Given the description of an element on the screen output the (x, y) to click on. 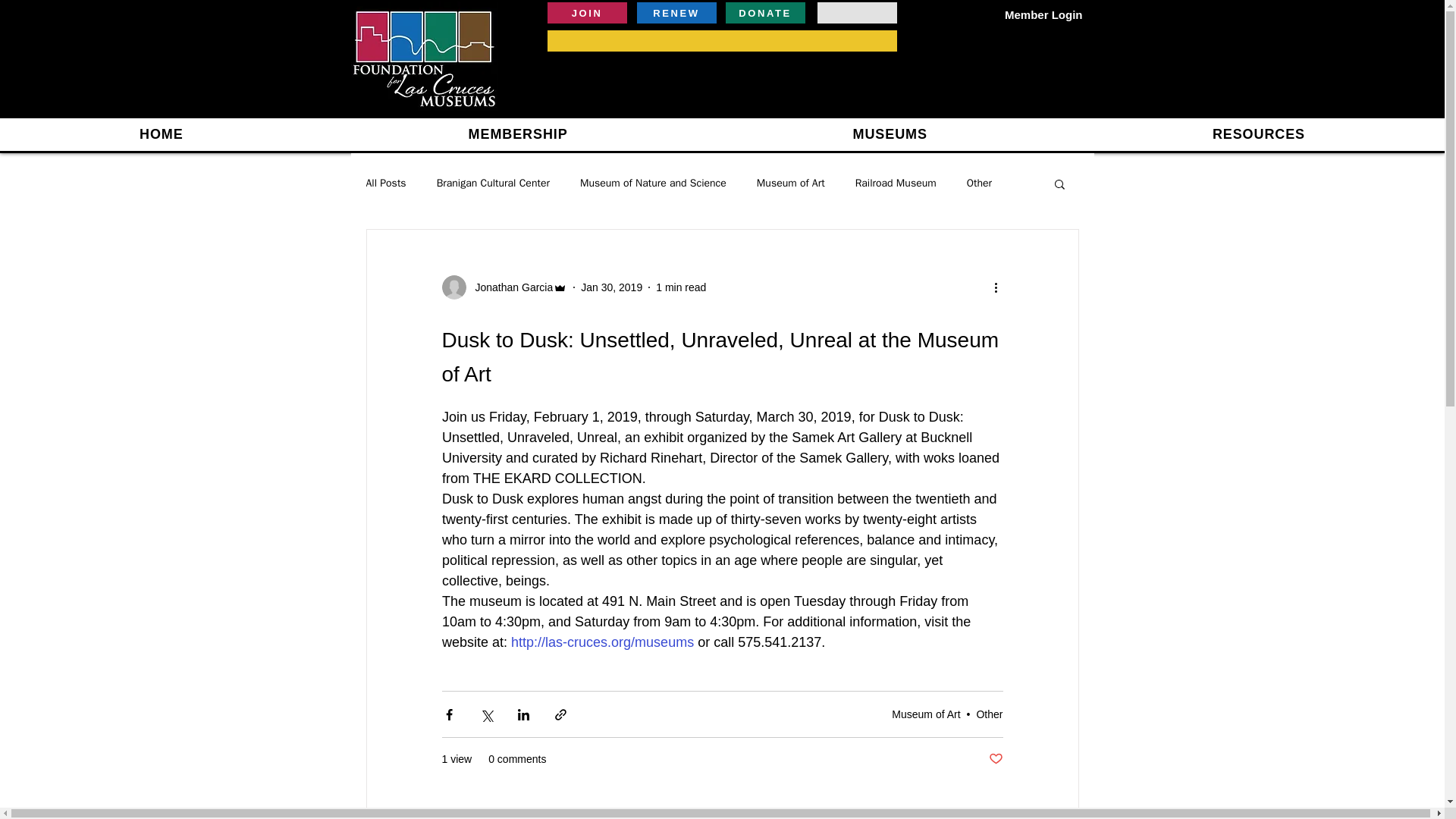
1 min read (681, 286)
Jonathan Garcia (509, 286)
MEMBERSHIP (518, 133)
RESOURCES (1258, 133)
HOME (161, 133)
JOIN (587, 12)
Museum of Art (925, 714)
Member Login (1043, 14)
Museum of Nature and Science (652, 183)
Jonathan Garcia (504, 287)
